Given the description of an element on the screen output the (x, y) to click on. 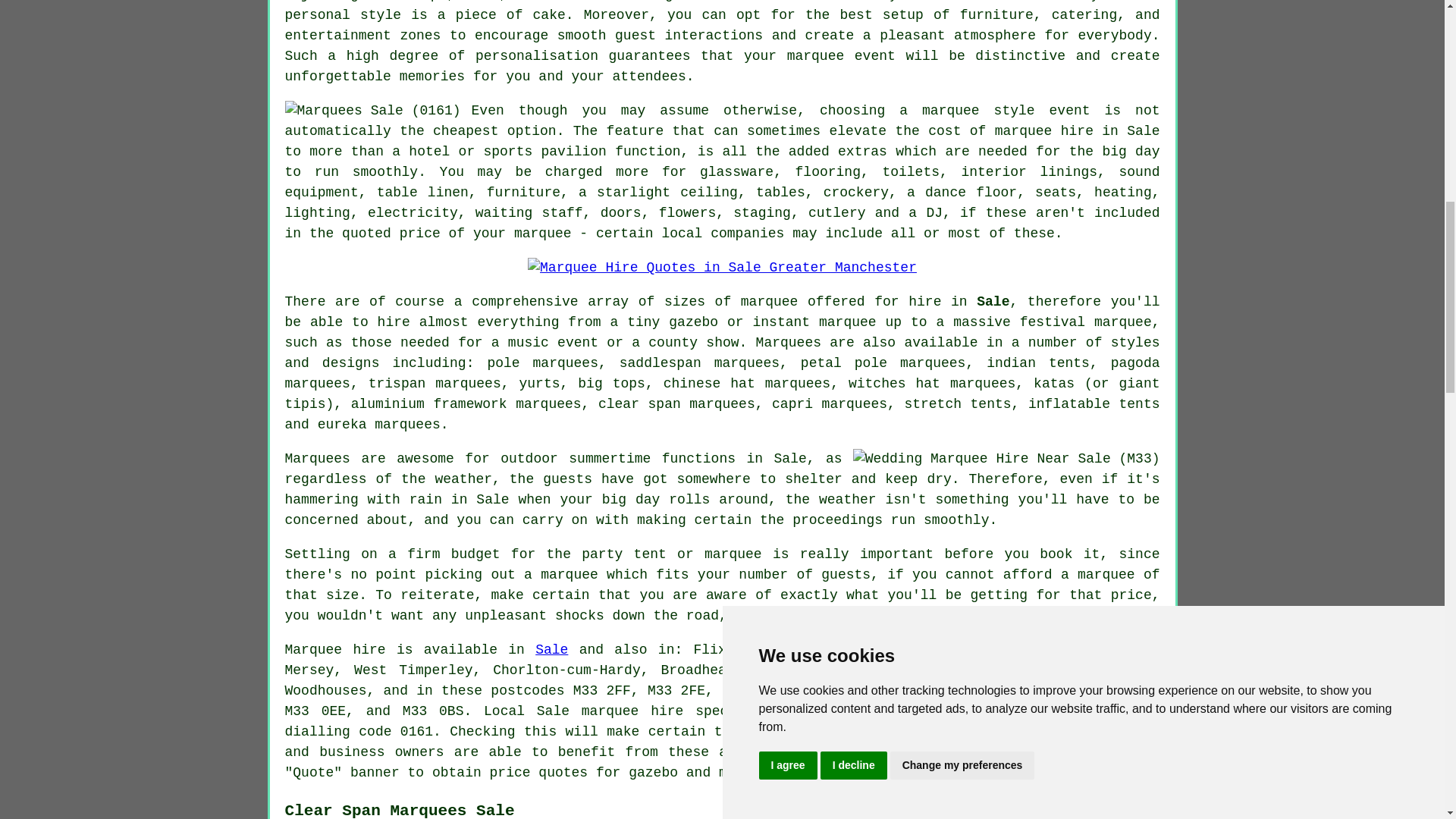
clear span marquees (676, 403)
Marquee Hire Quotes in Sale Greater Manchester (722, 267)
price (1130, 595)
gazebo (692, 322)
Sale (992, 301)
capri marquees (828, 403)
chinese hat (709, 383)
festival marquee (1085, 322)
big tops (611, 383)
Marquees (788, 342)
